Given the description of an element on the screen output the (x, y) to click on. 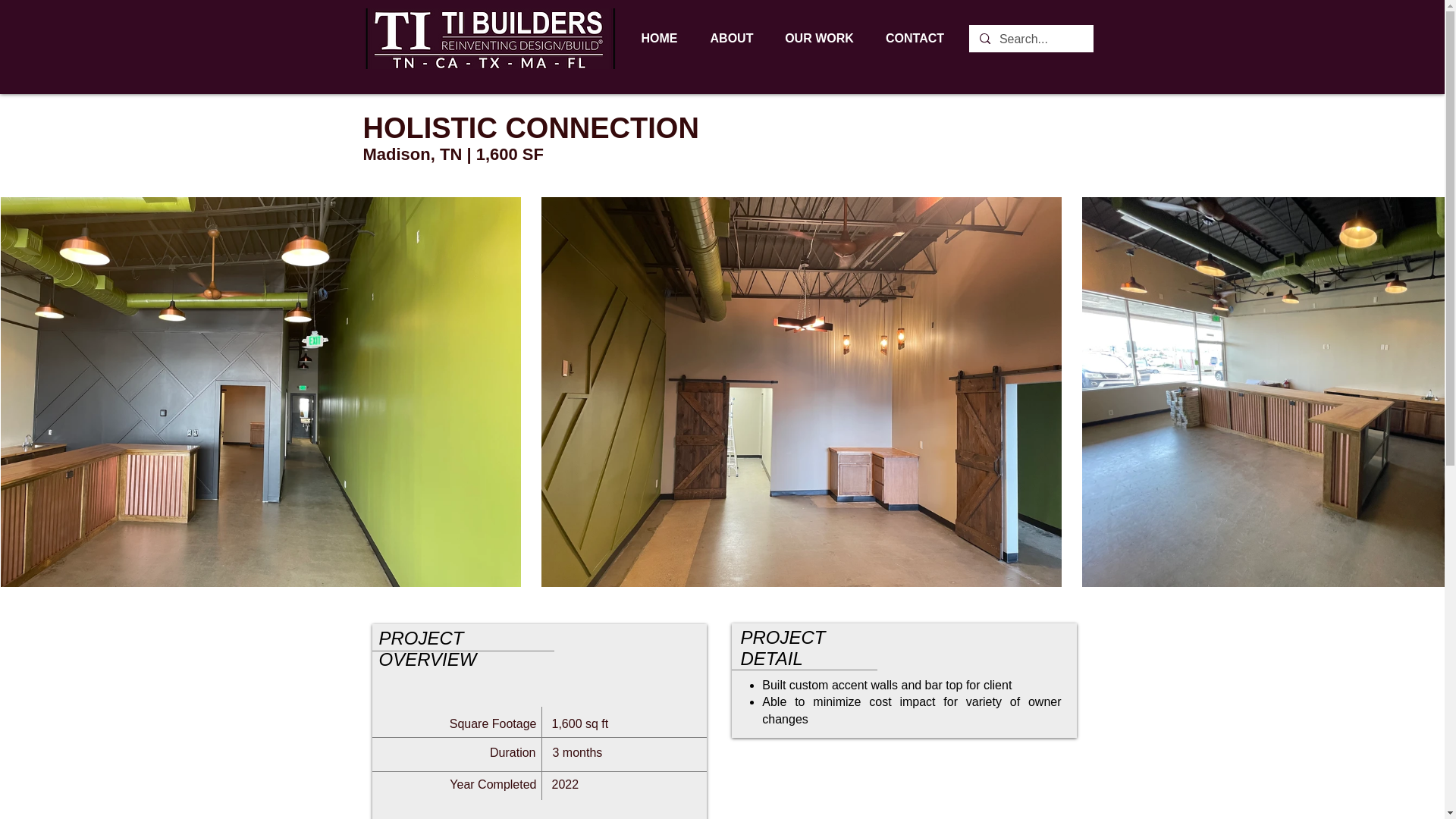
HOME (659, 38)
CONTACT (914, 38)
OUR WORK (818, 38)
ABOUT (731, 38)
